Given the description of an element on the screen output the (x, y) to click on. 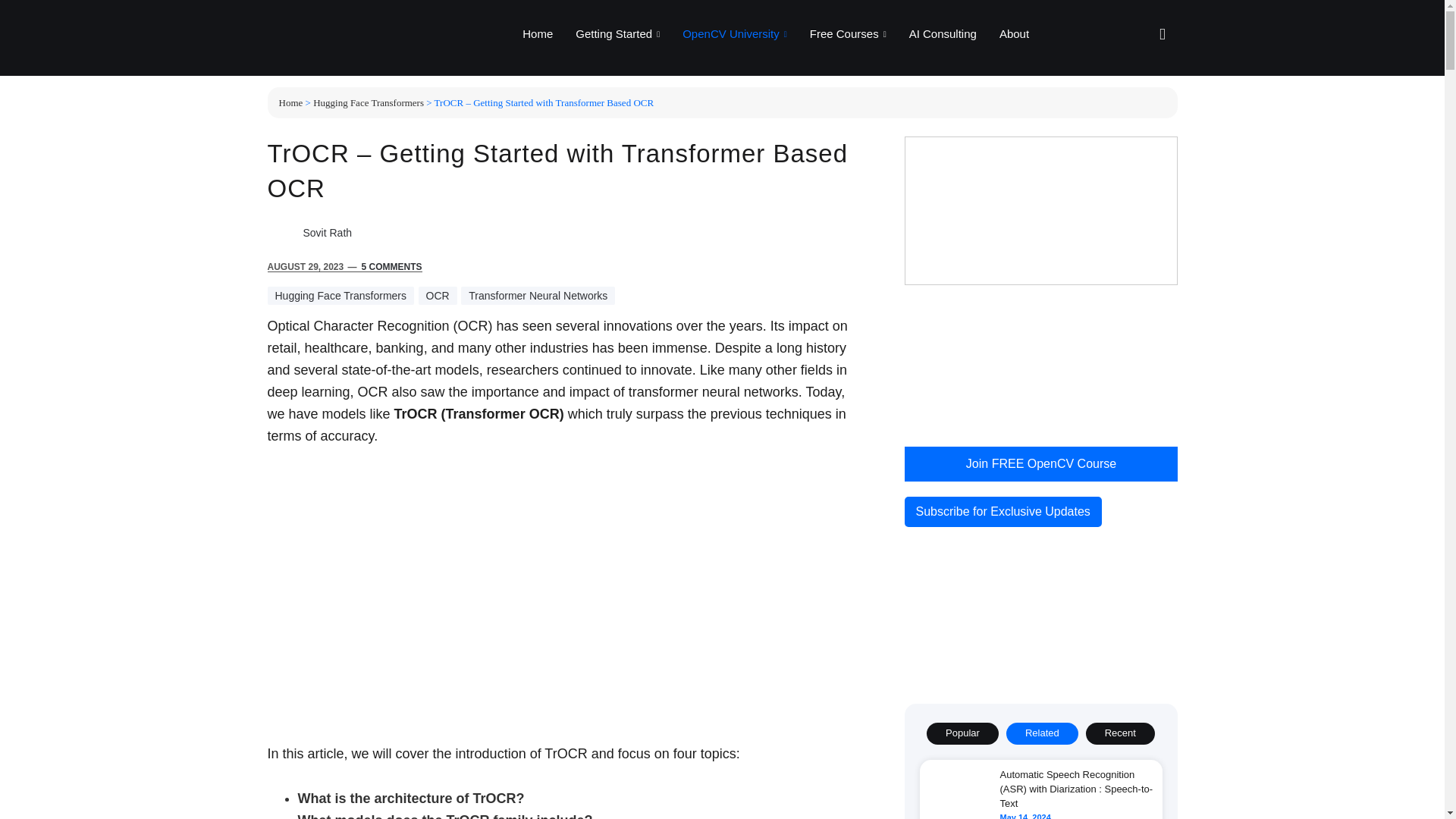
5 COMMENTS (391, 266)
Home (537, 34)
Hugging Face Transformers (368, 102)
Free Courses (847, 34)
Hugging Face Transformers (339, 295)
AI Consulting (943, 34)
OpenCV University (734, 34)
Sovit Rath (327, 232)
OCR (438, 295)
Home (290, 102)
Getting Started (617, 34)
About (1014, 34)
